Given the description of an element on the screen output the (x, y) to click on. 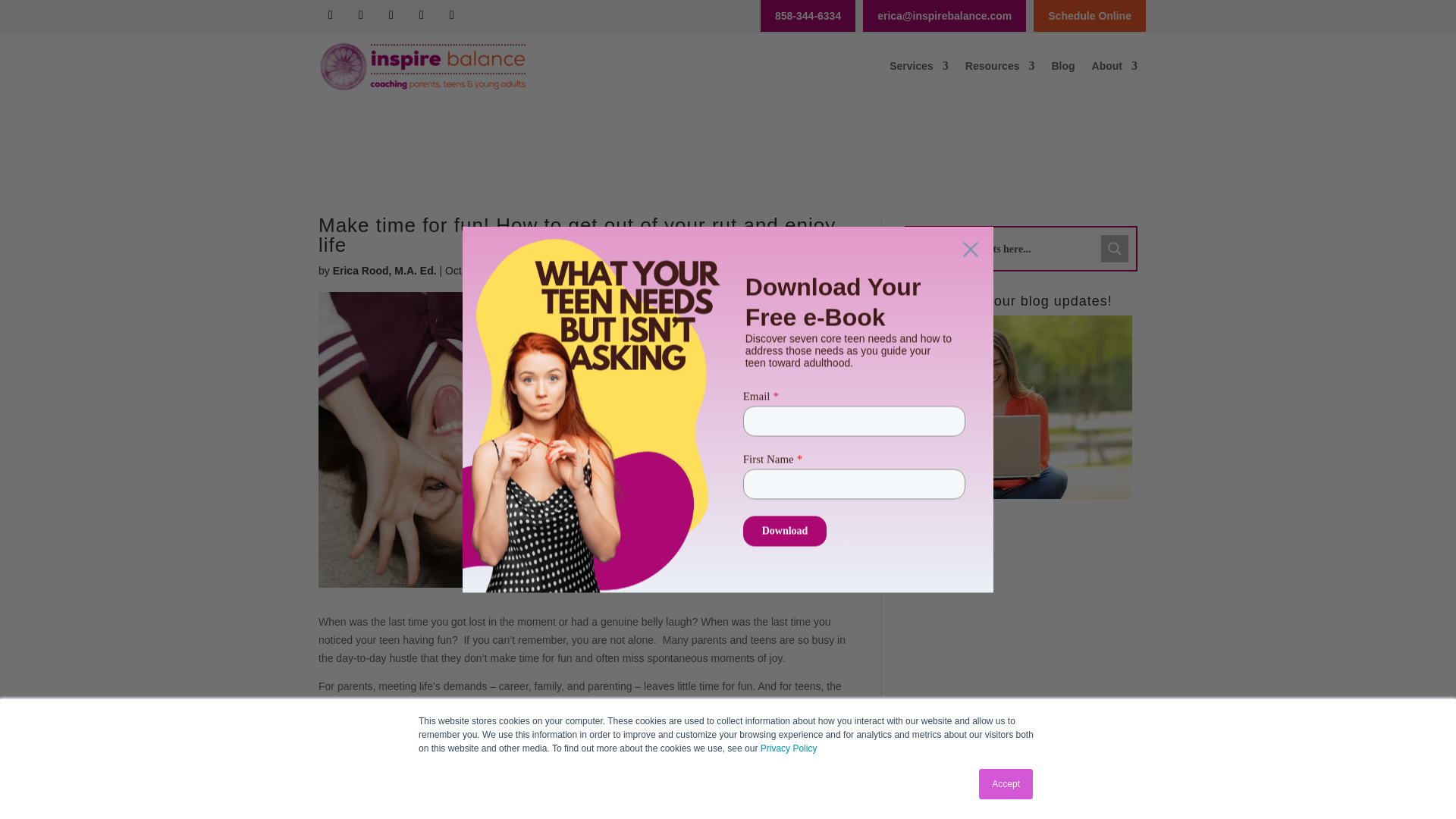
Accept (1005, 784)
Privacy Policy (788, 747)
Follow on Youtube (421, 15)
Follow on Instagram (451, 15)
Resources (1000, 65)
Posts by Erica Rood, M.A. Ed. (384, 270)
858-344-6334 (807, 15)
Follow on Facebook (330, 15)
Follow on LinkedIn (390, 15)
Services (919, 65)
Schedule Online (1089, 15)
Follow on TikTok (360, 15)
